Given the description of an element on the screen output the (x, y) to click on. 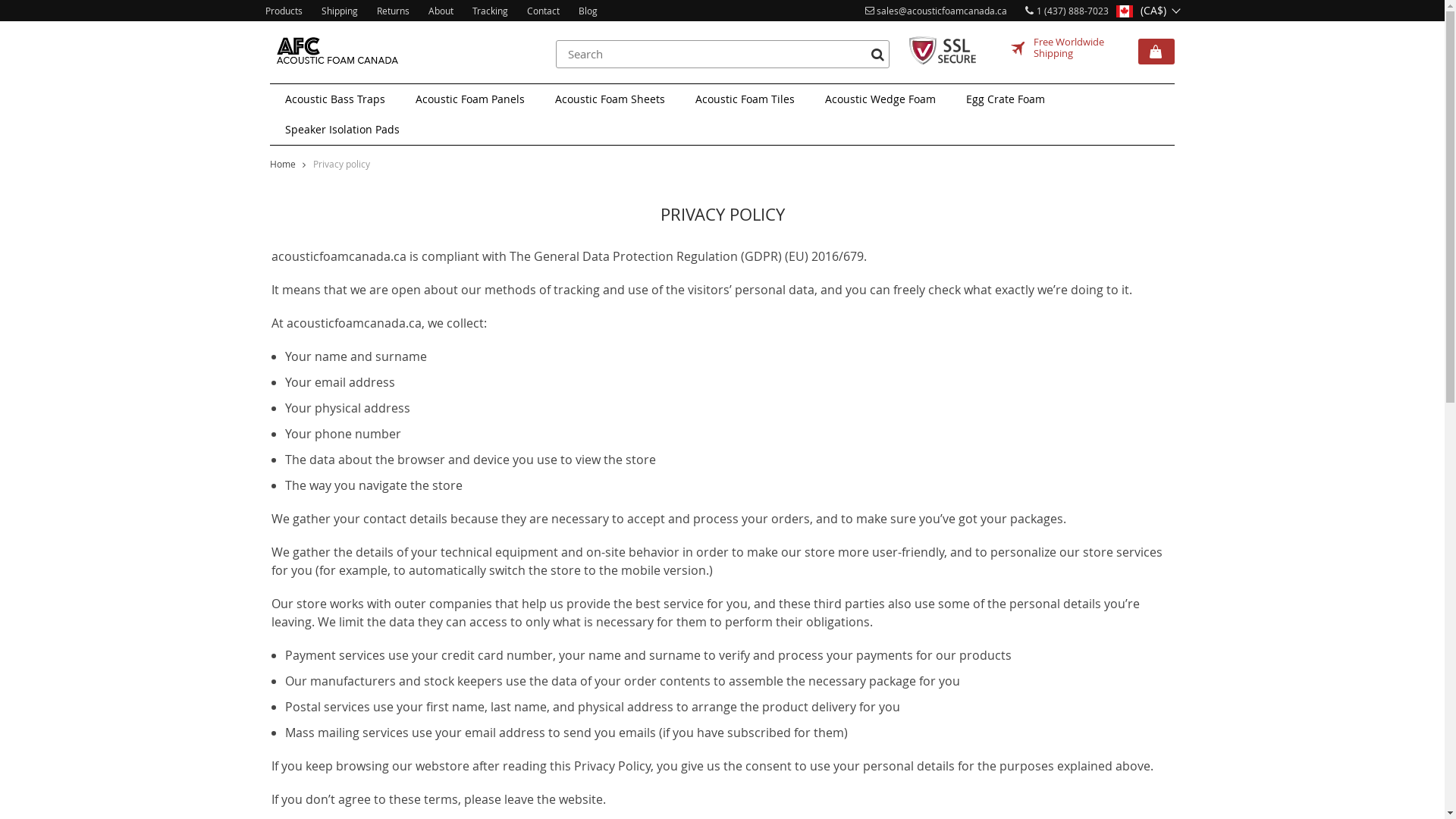
Acoustic Bass Traps Element type: text (334, 99)
1 (437) 888-7023 Element type: text (1066, 10)
Acoustic Foam Sheets Element type: text (609, 99)
Acoustic Foam Tiles Element type: text (744, 99)
Home Element type: text (282, 163)
Egg Crate Foam Element type: text (1005, 99)
sales@acousticfoamcanada.ca Element type: text (936, 10)
Speaker Isolation Pads Element type: text (341, 129)
Acoustic Foam Panels Element type: text (469, 99)
Acoustic Wedge Foam Element type: text (879, 99)
